Given the description of an element on the screen output the (x, y) to click on. 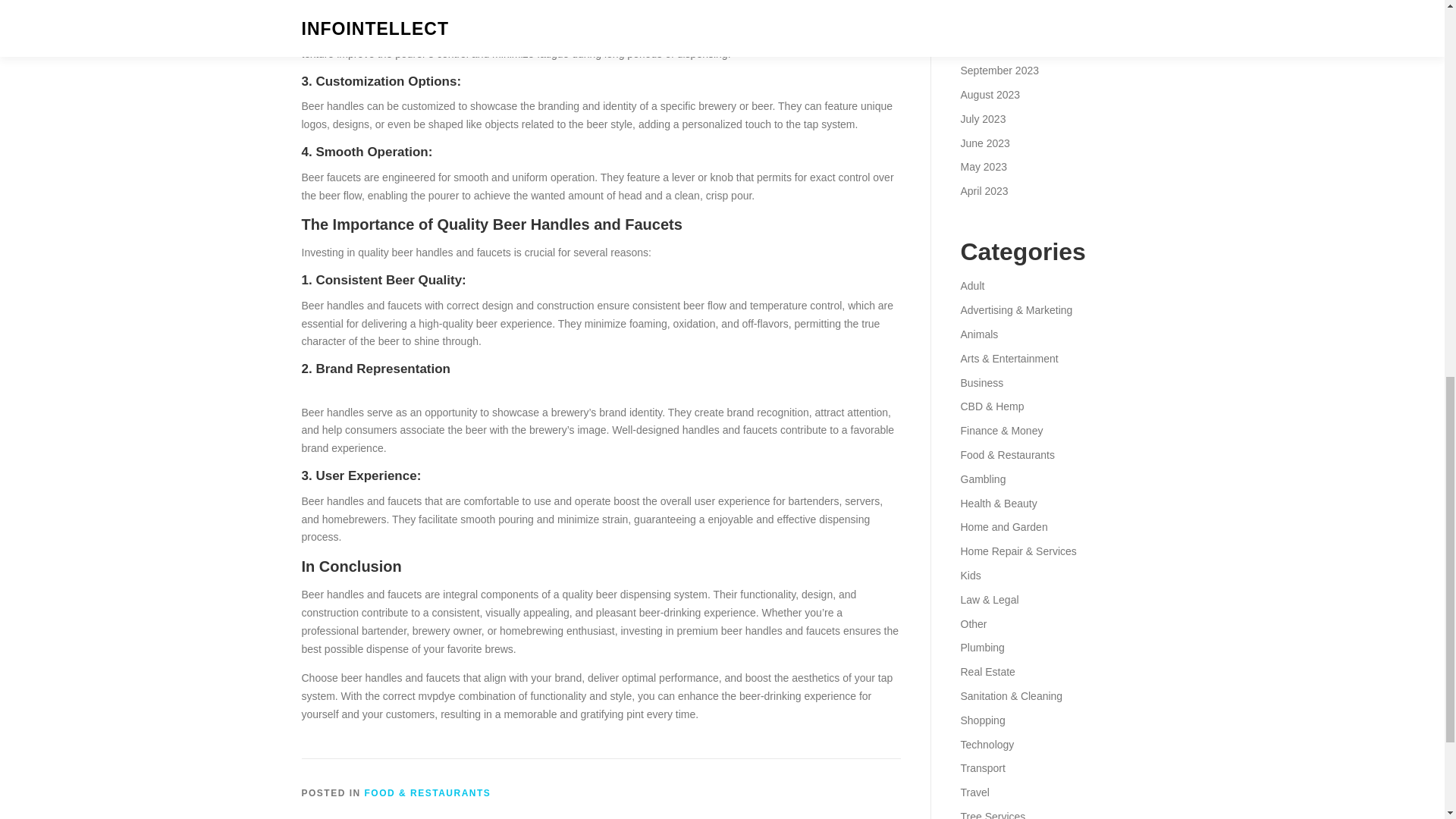
April 2023 (983, 191)
November 2023 (997, 22)
June 2023 (984, 143)
July 2023 (982, 119)
Adult (971, 285)
August 2023 (989, 94)
May 2023 (982, 166)
Business (981, 382)
December 2023 (997, 2)
September 2023 (999, 70)
